Given the description of an element on the screen output the (x, y) to click on. 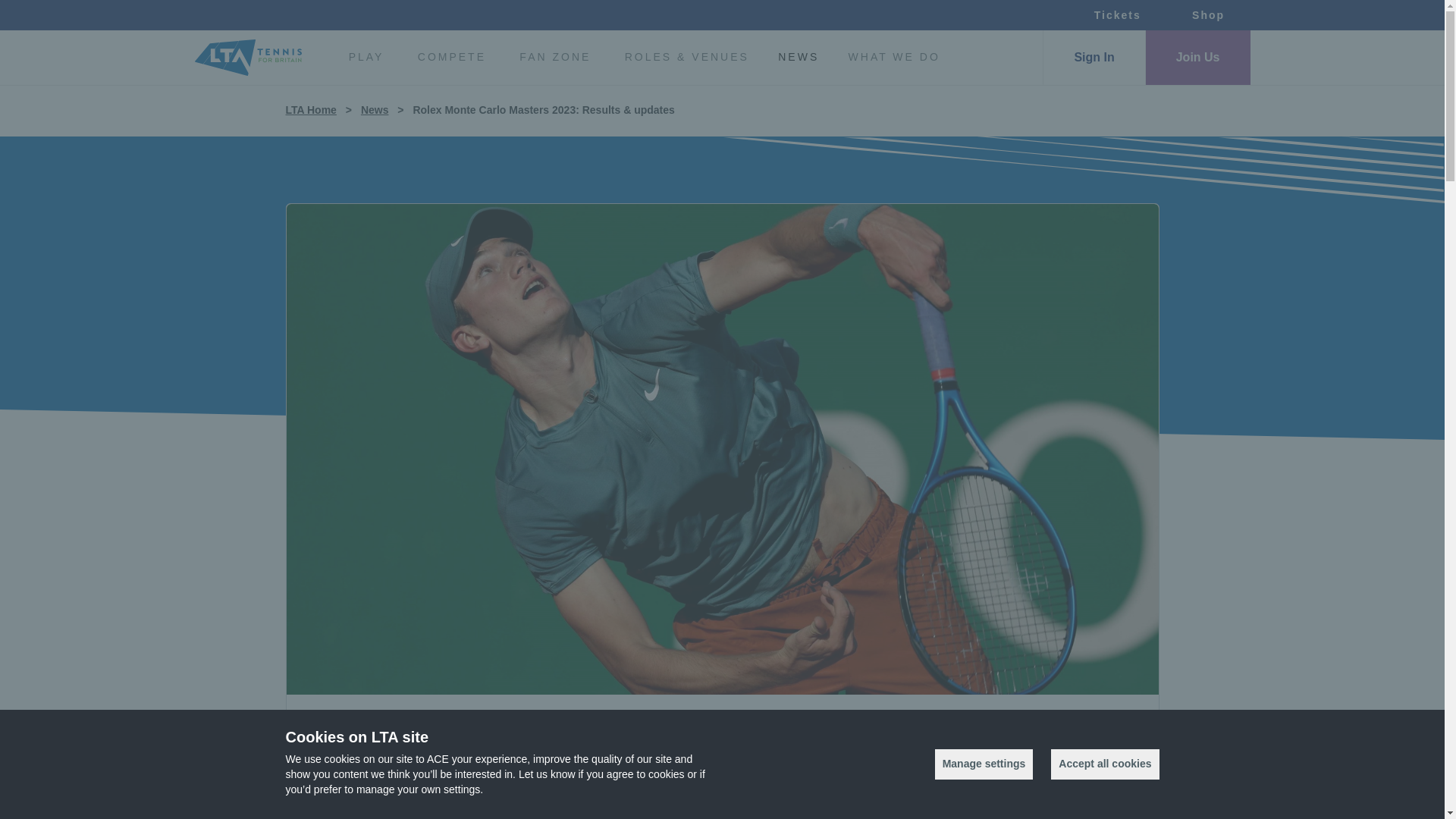
Tickets (1117, 14)
Shop (1207, 14)
PLAY (365, 57)
COMPETE (451, 57)
